Given the description of an element on the screen output the (x, y) to click on. 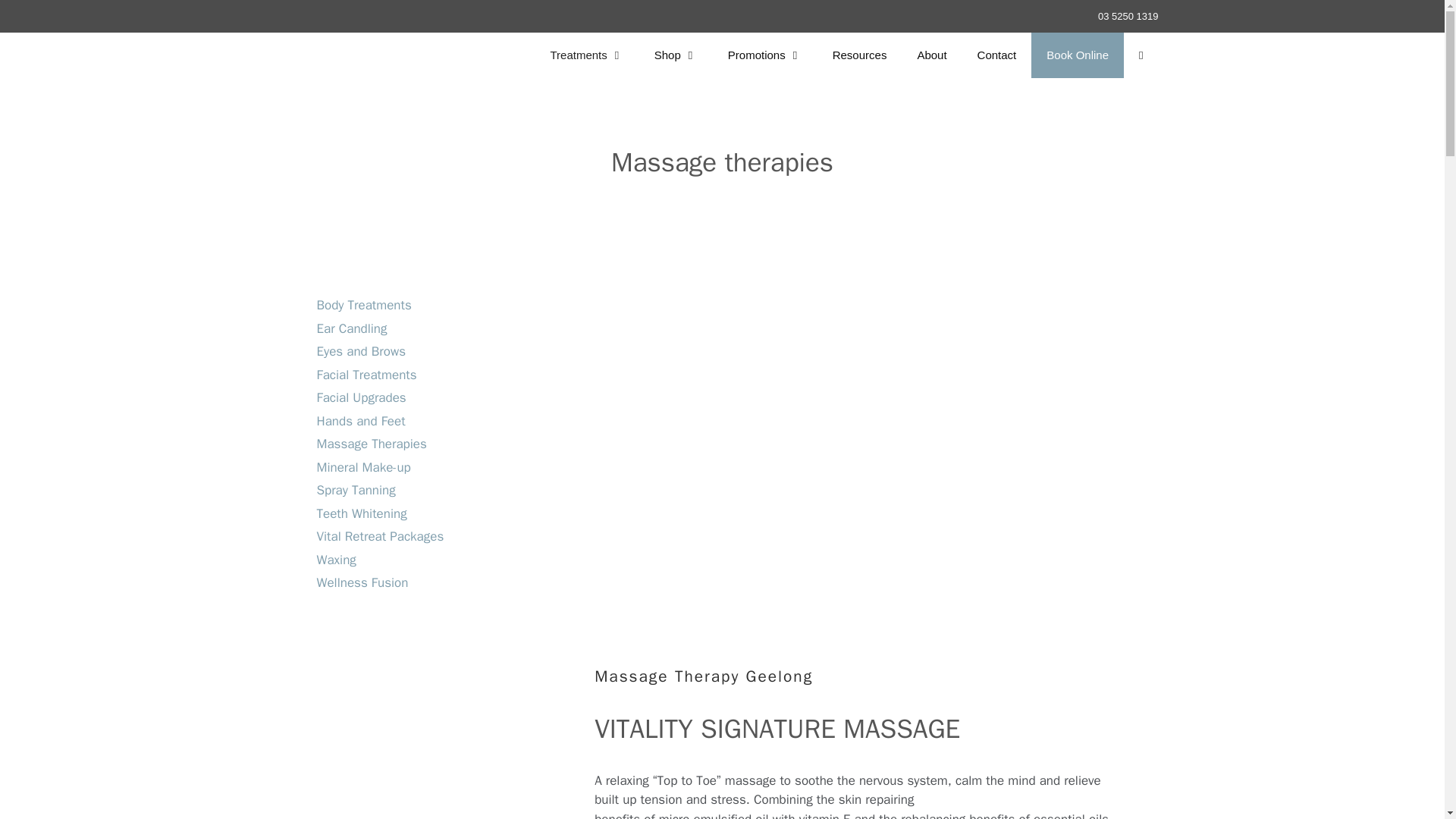
03 5250 1319 (1127, 16)
Vitality Laser and Skin (349, 55)
Vitality Laser and Skin (346, 55)
